Given the description of an element on the screen output the (x, y) to click on. 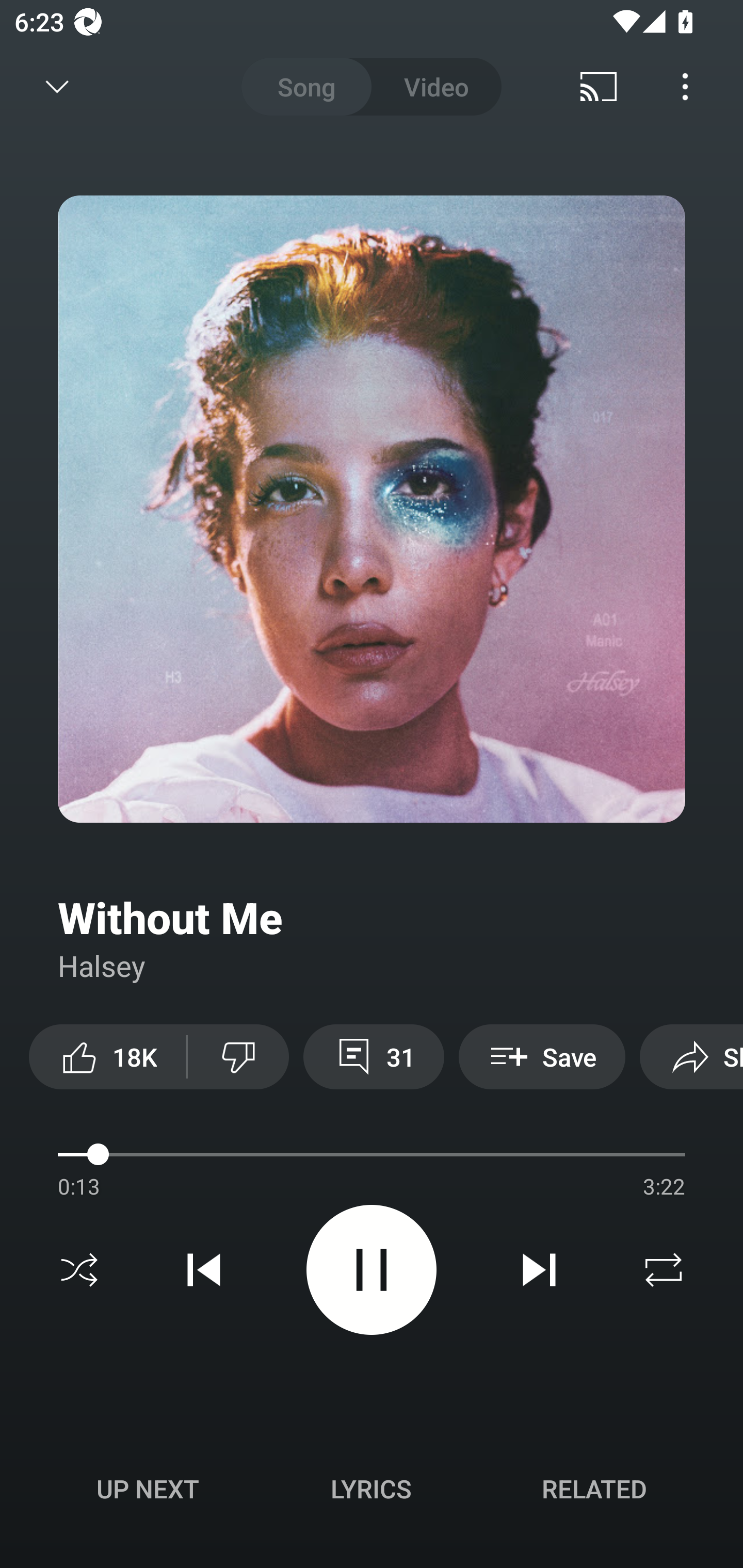
Minimize (57, 86)
Cast. Disconnected (598, 86)
Menu (684, 86)
18K like this video along with 18,871 other people (106, 1056)
Dislike (238, 1056)
31 View 31 comments (373, 1056)
Save Save to playlist (541, 1056)
Share (691, 1056)
Pause video (371, 1269)
Shuffle off (79, 1269)
Previous track (203, 1269)
Next track (538, 1269)
Repeat off (663, 1269)
Up next UP NEXT Lyrics LYRICS Related RELATED (371, 1491)
Lyrics LYRICS (370, 1488)
Related RELATED (594, 1488)
